Given the description of an element on the screen output the (x, y) to click on. 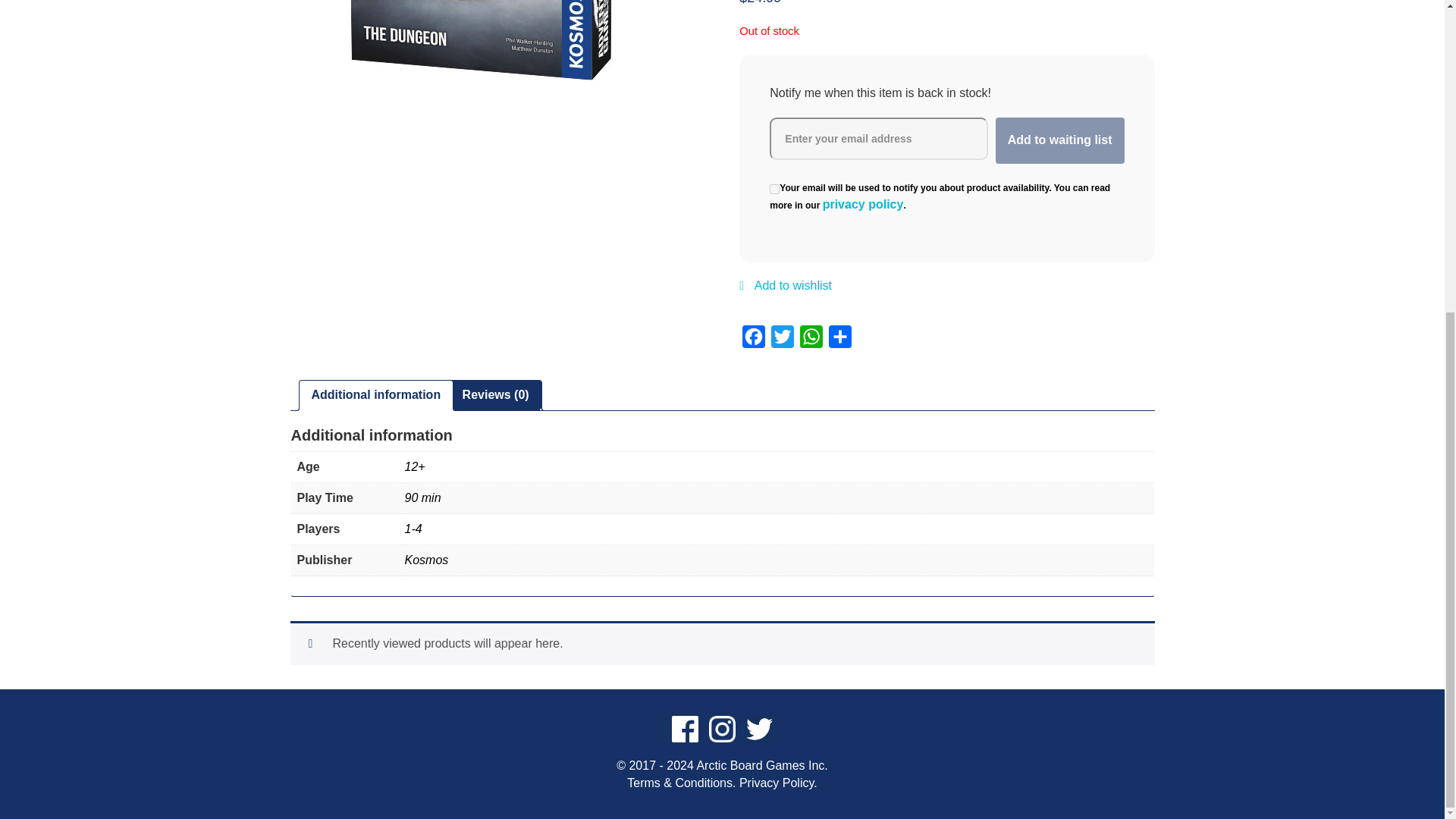
adventure-games-dungeon (478, 40)
Twitter (782, 340)
WhatsApp (810, 340)
yes (774, 189)
privacy policy (863, 204)
Add to wishlist (785, 293)
Additional information (376, 395)
Facebook (753, 340)
1-4 (413, 529)
Twitter (782, 340)
WhatsApp (810, 340)
Add to waiting list (1059, 140)
Add to waiting list (1059, 140)
Facebook (753, 340)
